Given the description of an element on the screen output the (x, y) to click on. 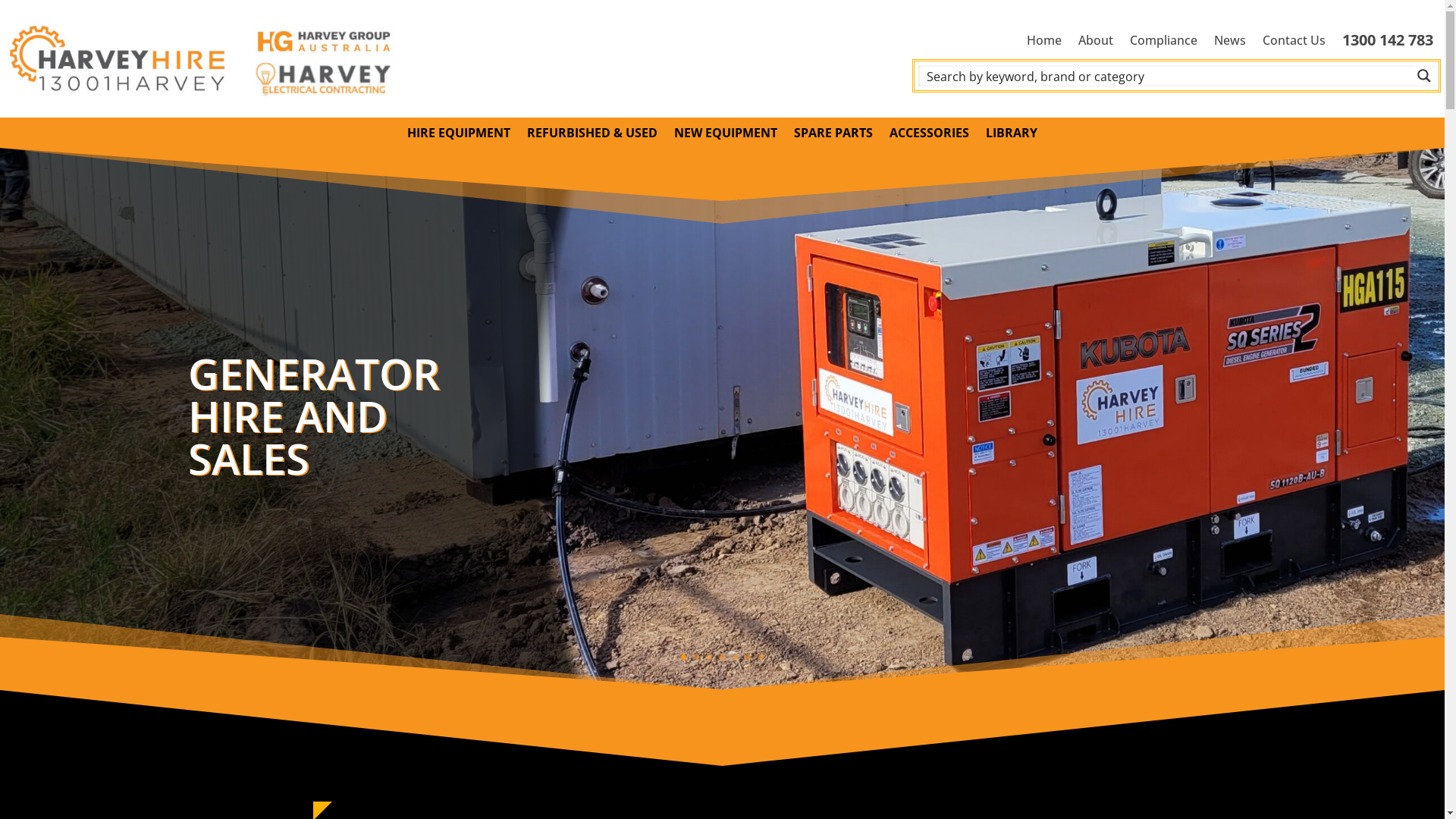
2 Element type: text (696, 656)
7 Element type: text (760, 656)
HarveyGroup-3logo- Element type: hover (207, 58)
1300 142 783 Element type: text (1387, 42)
Contact Us Element type: text (1293, 42)
5 Element type: text (734, 656)
ACCESSORIES Element type: text (929, 135)
Home Element type: text (1043, 42)
LIBRARY Element type: text (1011, 135)
News Element type: text (1229, 42)
Compliance Element type: text (1163, 42)
NEW EQUIPMENT Element type: text (725, 135)
SPARE PARTS Element type: text (832, 135)
6 Element type: text (747, 656)
About Element type: text (1095, 42)
1 Element type: text (683, 656)
3 Element type: text (709, 656)
4 Element type: text (721, 656)
HIRE EQUIPMENT Element type: text (458, 135)
REFURBISHED & USED Element type: text (592, 135)
GENERATOR HIRE AND SALES Element type: text (313, 415)
